Given the description of an element on the screen output the (x, y) to click on. 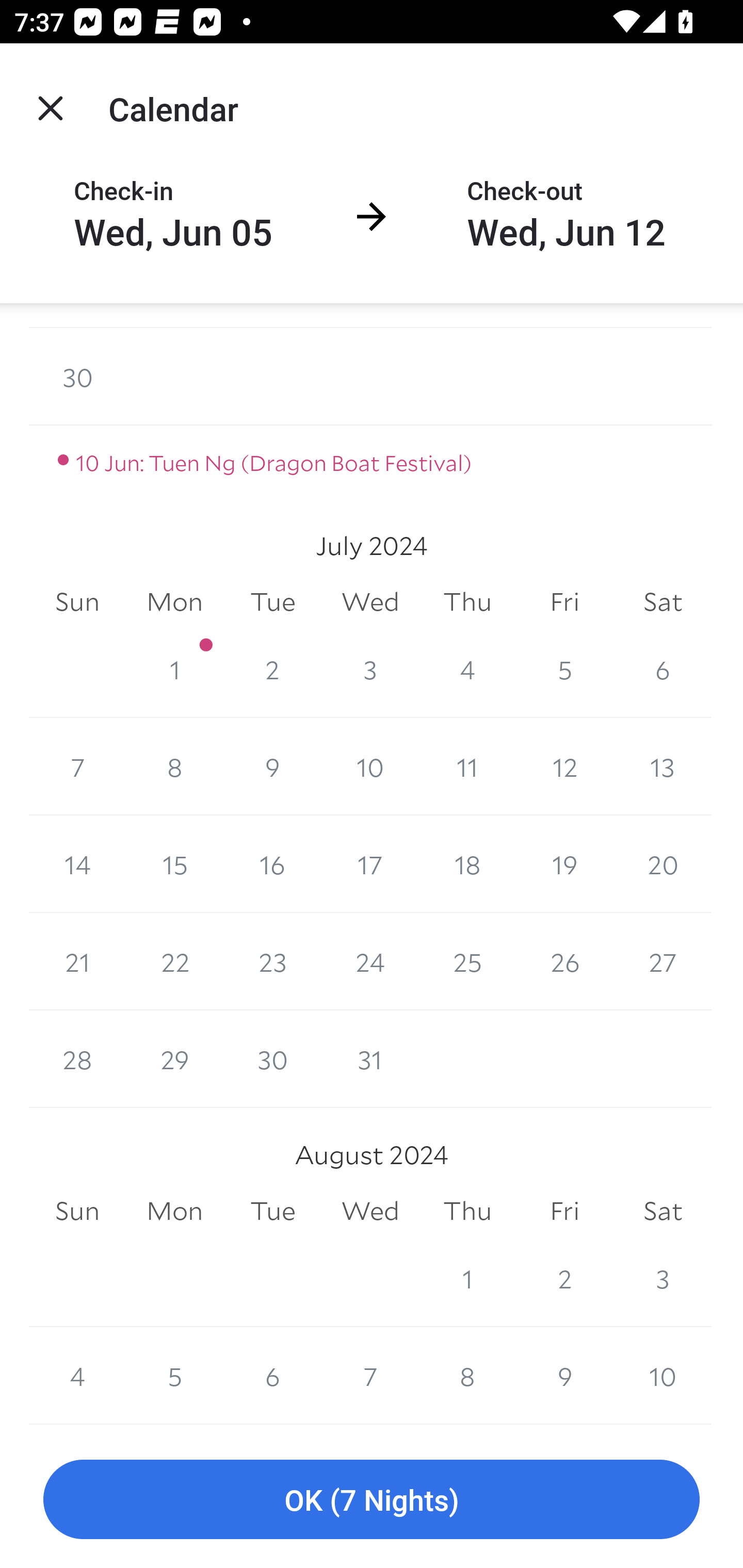
30 30 June 2024 (77, 375)
Sun (77, 601)
Mon (174, 601)
Tue (272, 601)
Wed (370, 601)
Thu (467, 601)
Fri (564, 601)
Sat (662, 601)
1 1 July 2024 (174, 669)
2 2 July 2024 (272, 669)
3 3 July 2024 (370, 669)
4 4 July 2024 (467, 669)
5 5 July 2024 (564, 669)
6 6 July 2024 (662, 669)
7 7 July 2024 (77, 766)
8 8 July 2024 (174, 766)
9 9 July 2024 (272, 766)
10 10 July 2024 (370, 766)
11 11 July 2024 (467, 766)
12 12 July 2024 (564, 766)
13 13 July 2024 (662, 766)
14 14 July 2024 (77, 863)
15 15 July 2024 (174, 863)
16 16 July 2024 (272, 863)
17 17 July 2024 (370, 863)
18 18 July 2024 (467, 863)
19 19 July 2024 (564, 863)
20 20 July 2024 (662, 863)
21 21 July 2024 (77, 960)
22 22 July 2024 (174, 960)
23 23 July 2024 (272, 960)
24 24 July 2024 (370, 960)
25 25 July 2024 (467, 960)
26 26 July 2024 (564, 960)
27 27 July 2024 (662, 960)
28 28 July 2024 (77, 1058)
29 29 July 2024 (174, 1058)
30 30 July 2024 (272, 1058)
31 31 July 2024 (370, 1058)
Sun (77, 1211)
Mon (174, 1211)
Tue (272, 1211)
Wed (370, 1211)
Thu (467, 1211)
Fri (564, 1211)
Sat (662, 1211)
1 1 August 2024 (467, 1277)
2 2 August 2024 (564, 1277)
3 3 August 2024 (662, 1277)
